Given the description of an element on the screen output the (x, y) to click on. 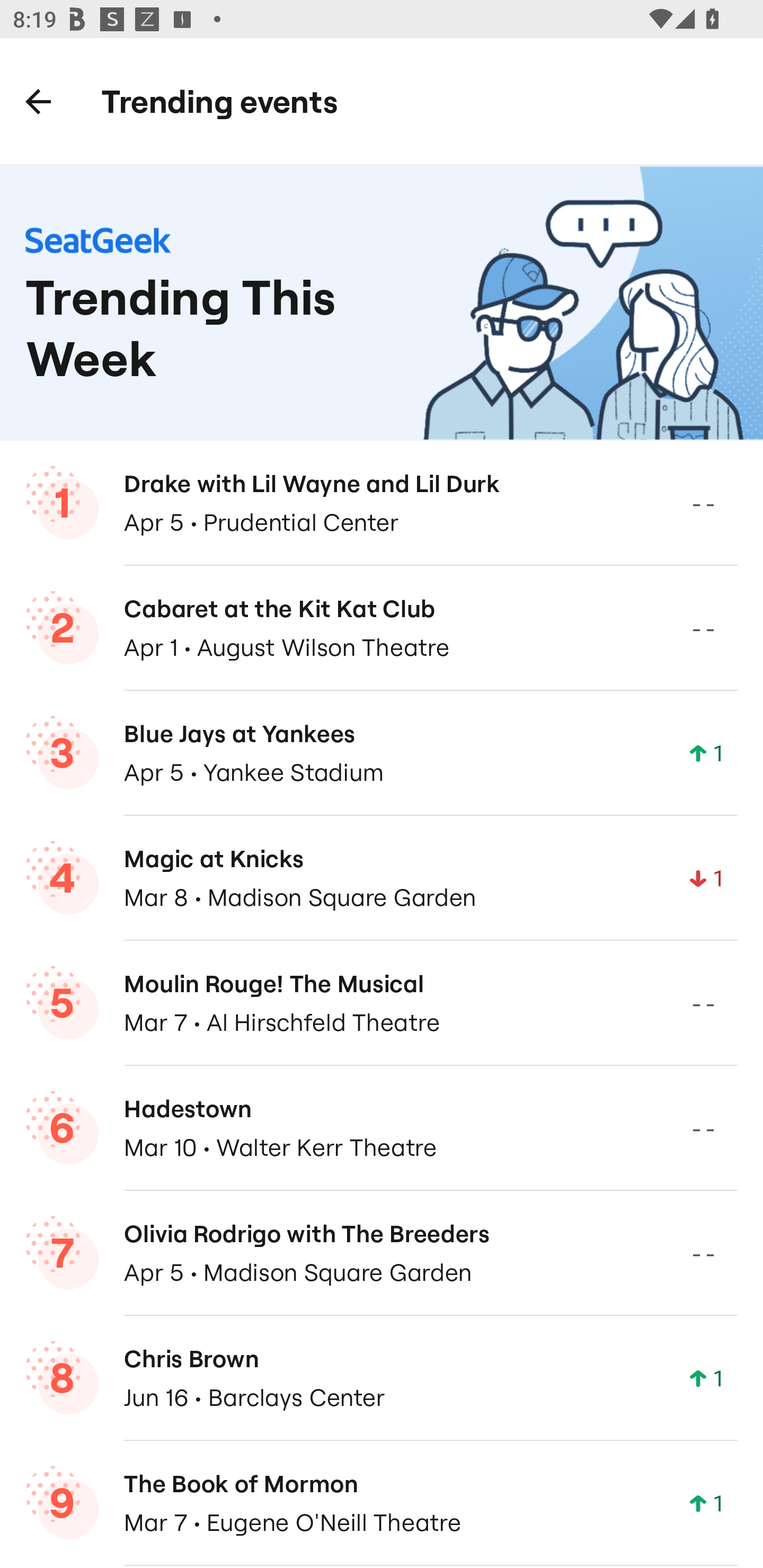
Back (38, 100)
